Given the description of an element on the screen output the (x, y) to click on. 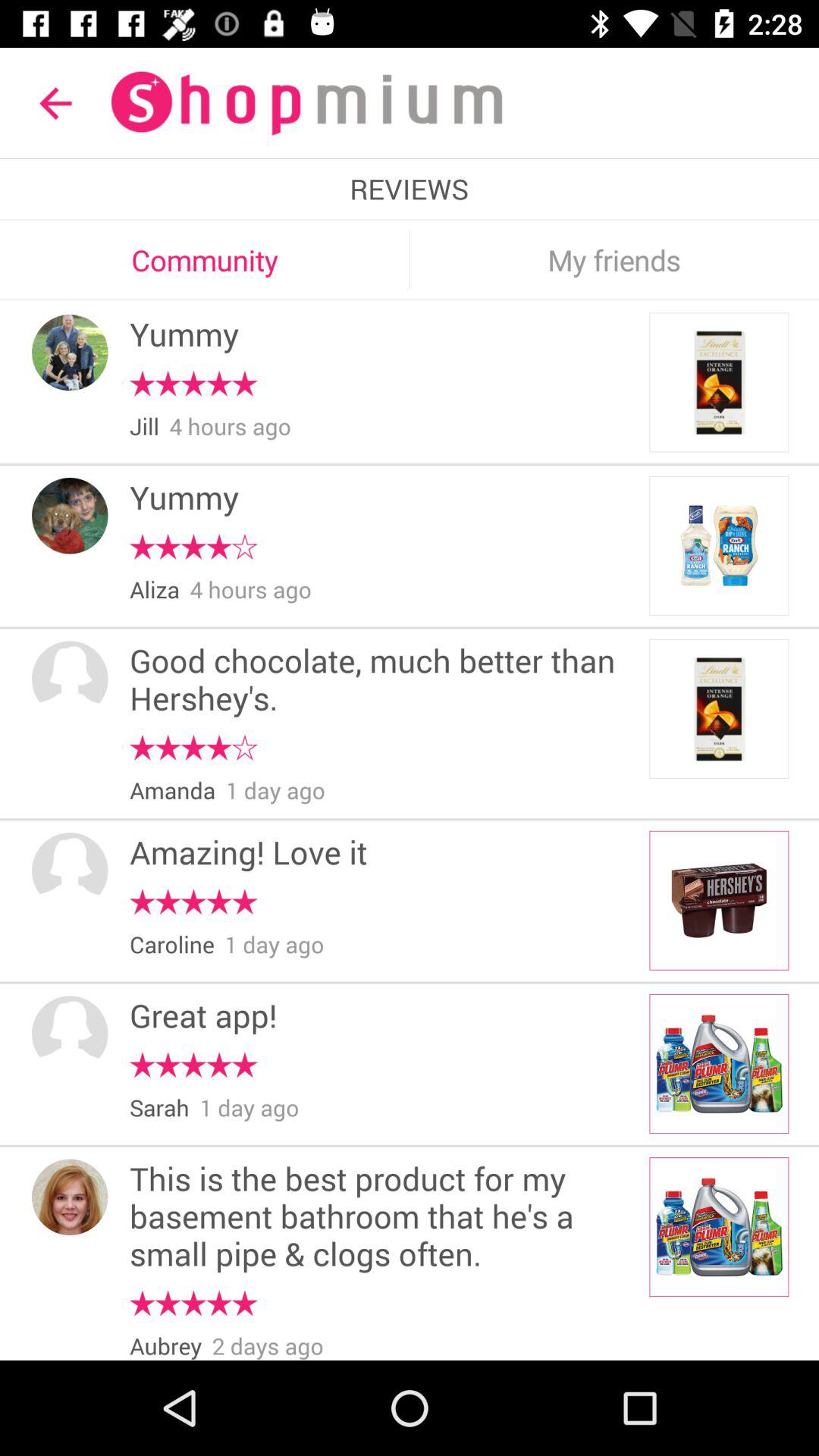
turn on the item below the good chocolate much (193, 747)
